Given the description of an element on the screen output the (x, y) to click on. 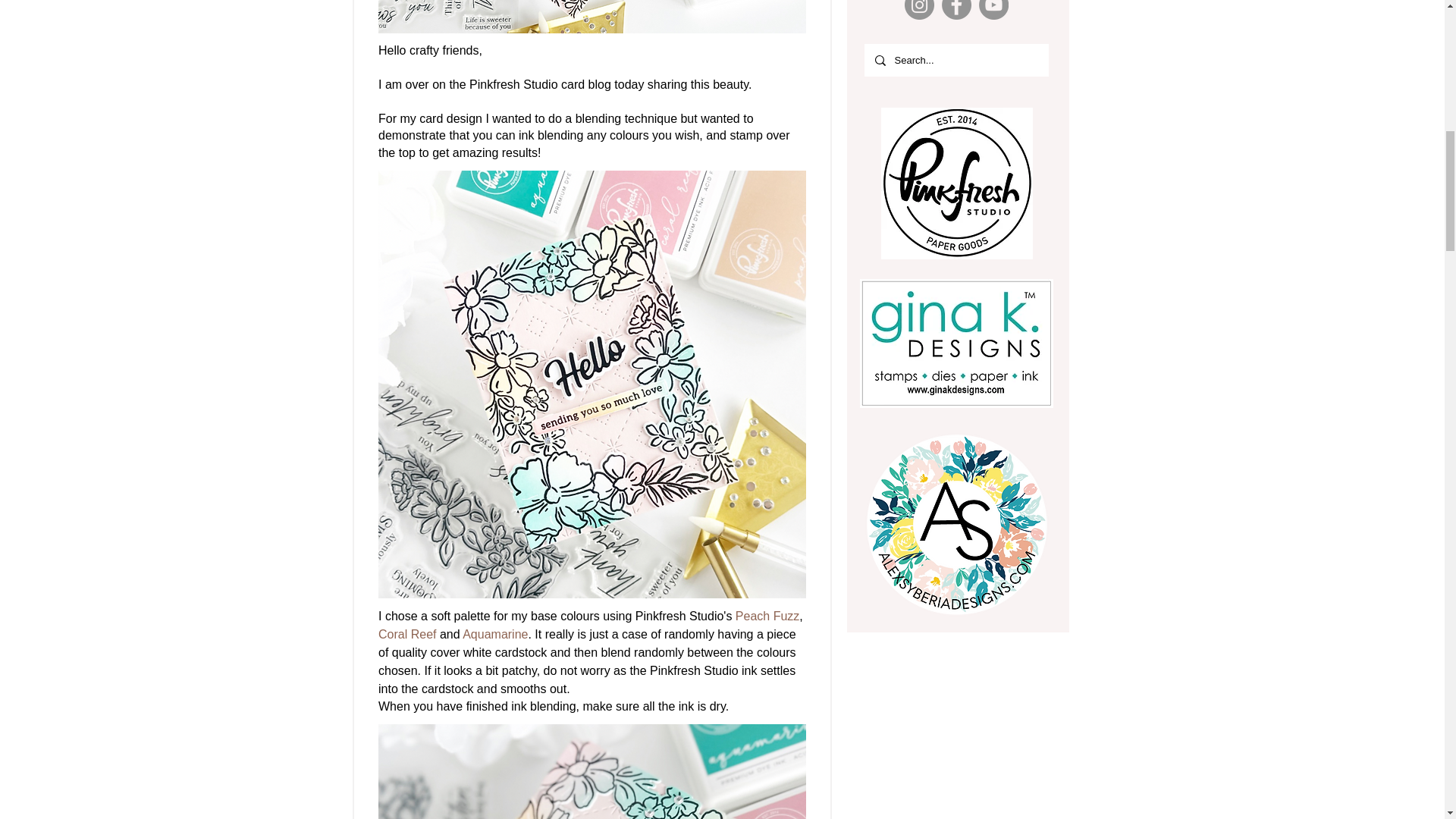
Aquamarine (495, 634)
Coral Reef (406, 634)
Peach Fuzz (766, 615)
